Given the description of an element on the screen output the (x, y) to click on. 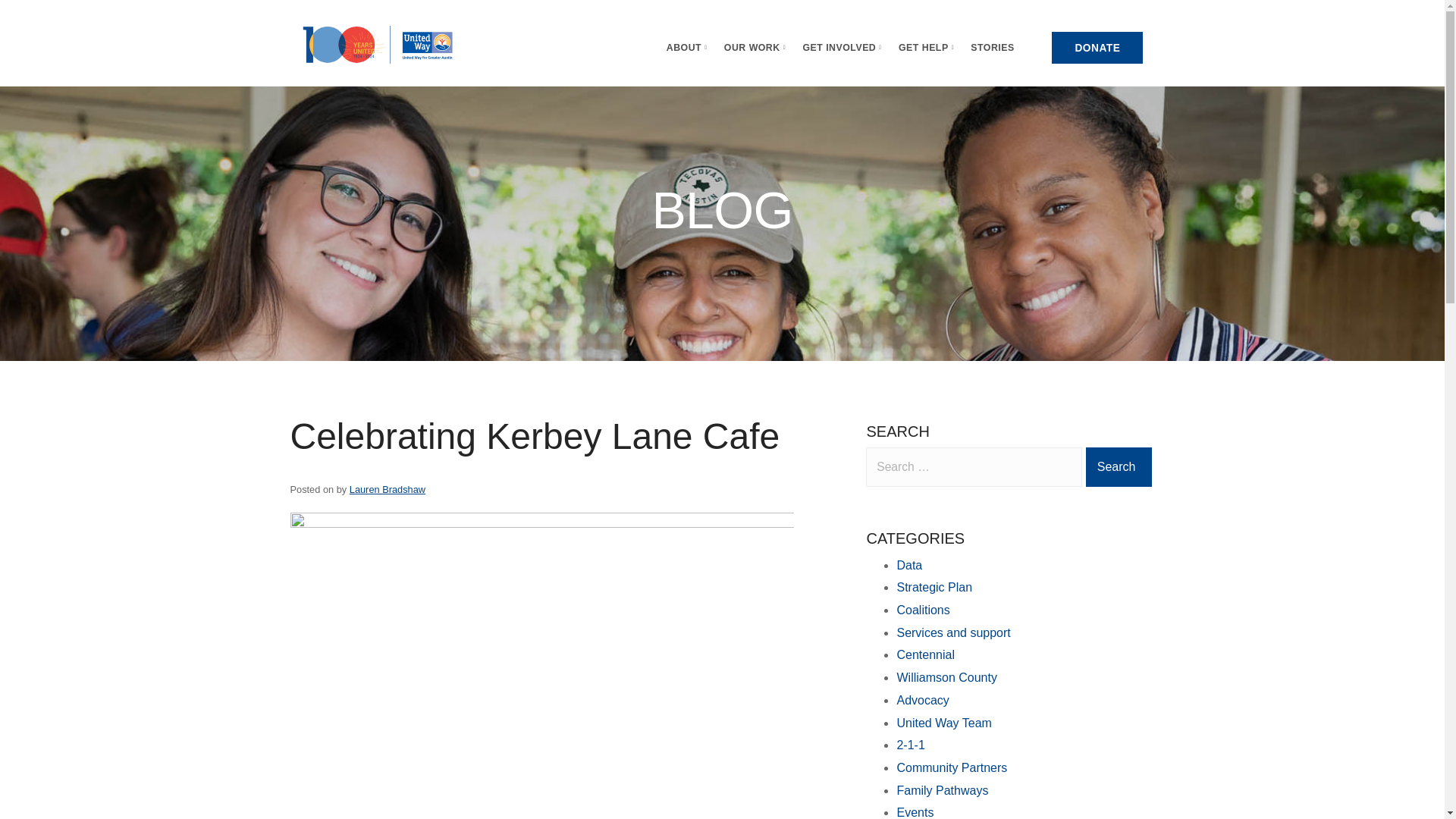
ABOUT (686, 47)
Search (1118, 466)
OUR WORK (754, 47)
Search (1118, 466)
